Given the description of an element on the screen output the (x, y) to click on. 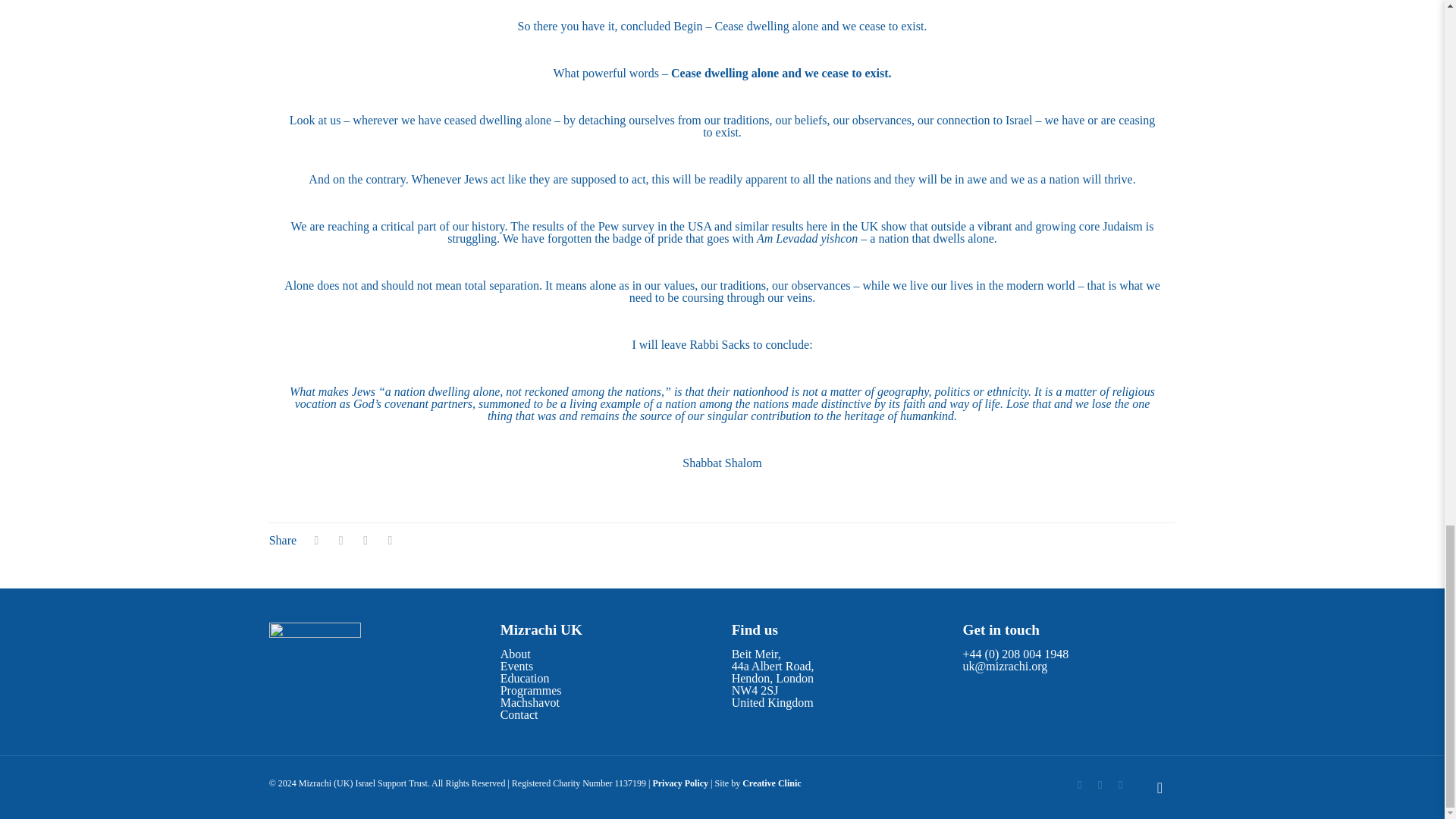
Education (525, 677)
Events (517, 666)
Instagram (1120, 784)
Twitter (1100, 784)
About (515, 653)
Facebook (1079, 784)
